Given the description of an element on the screen output the (x, y) to click on. 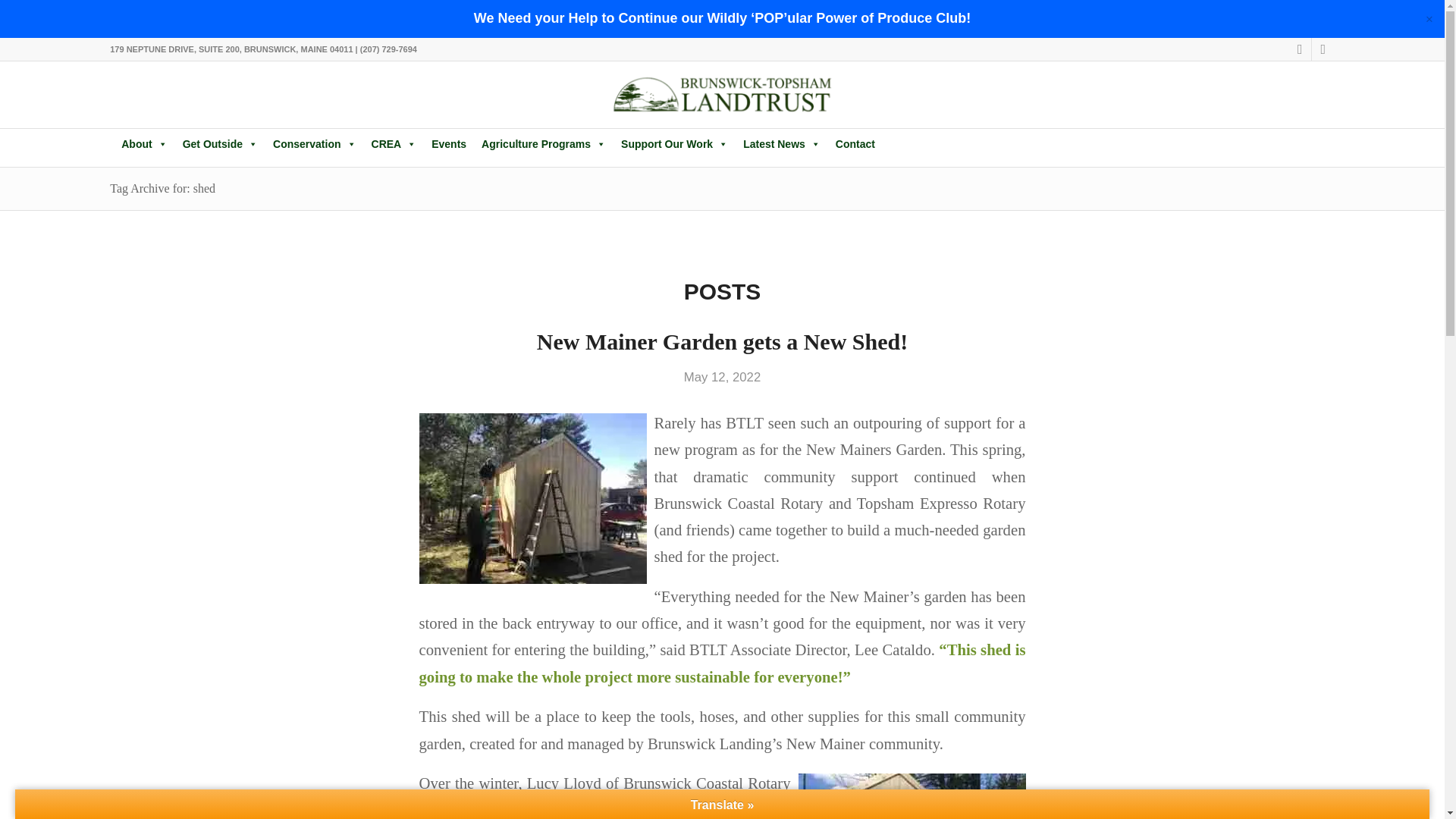
Instagram (1323, 48)
Facebook (1299, 48)
Permanent Link: Tag Archive for: shed (162, 187)
Permanent Link: New Mainer Garden gets a New Shed! (722, 341)
